Given the description of an element on the screen output the (x, y) to click on. 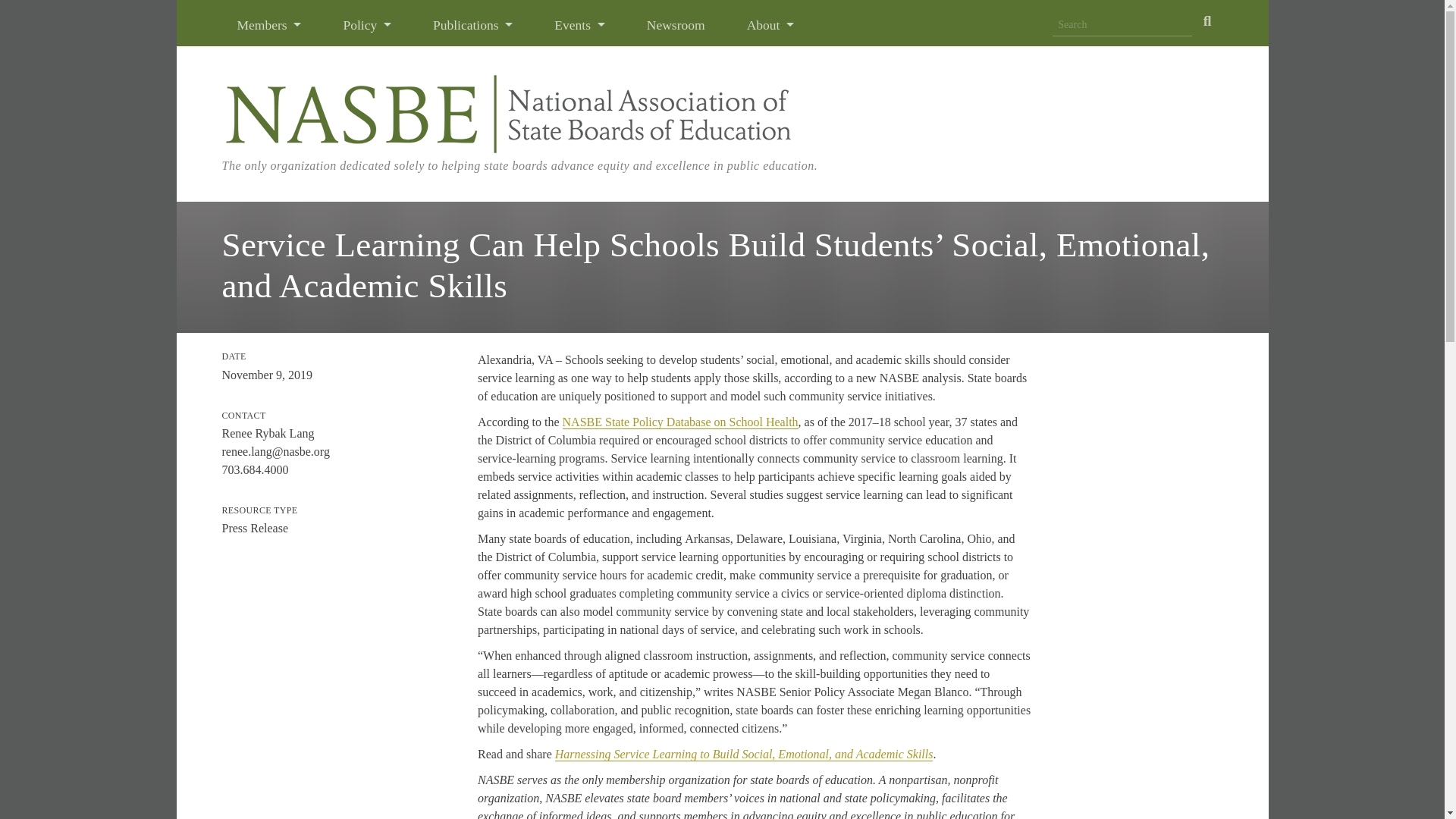
Members (268, 24)
About (769, 24)
Newsroom (676, 24)
Publications (472, 24)
Events (579, 24)
Policy (366, 24)
